Given the description of an element on the screen output the (x, y) to click on. 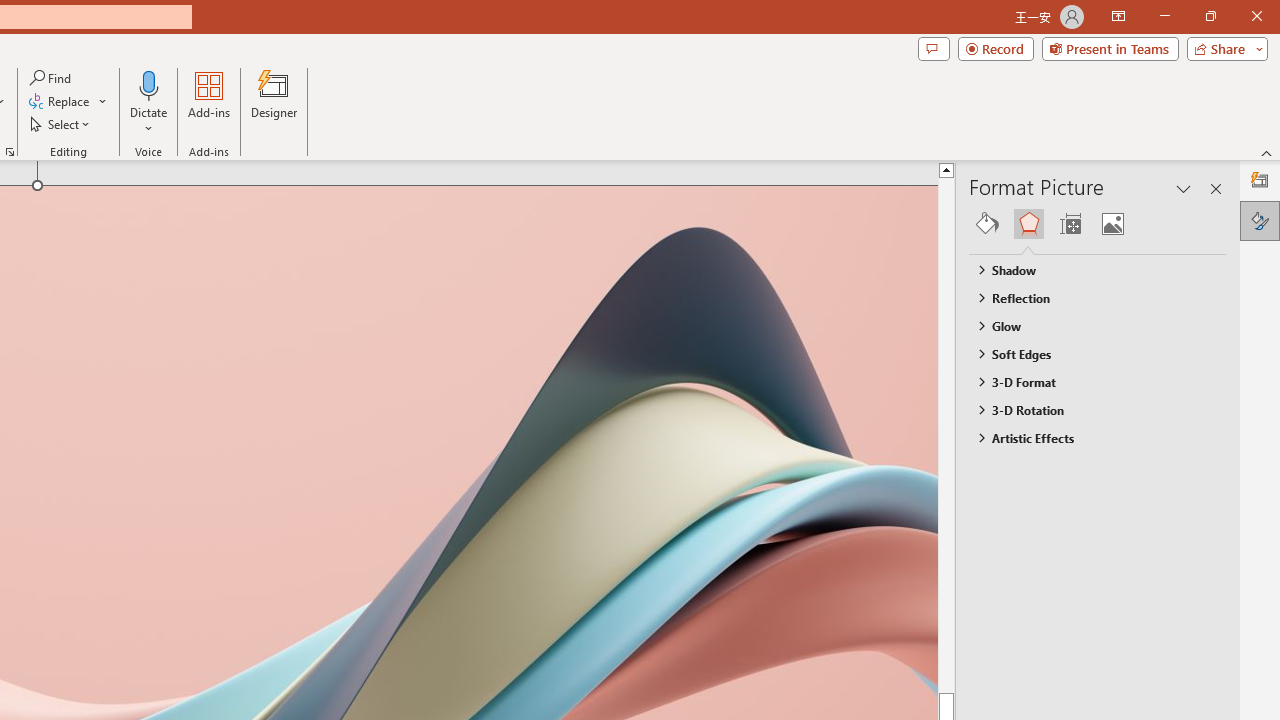
Artistic Effects (1088, 438)
Soft Edges (1088, 353)
